Given the description of an element on the screen output the (x, y) to click on. 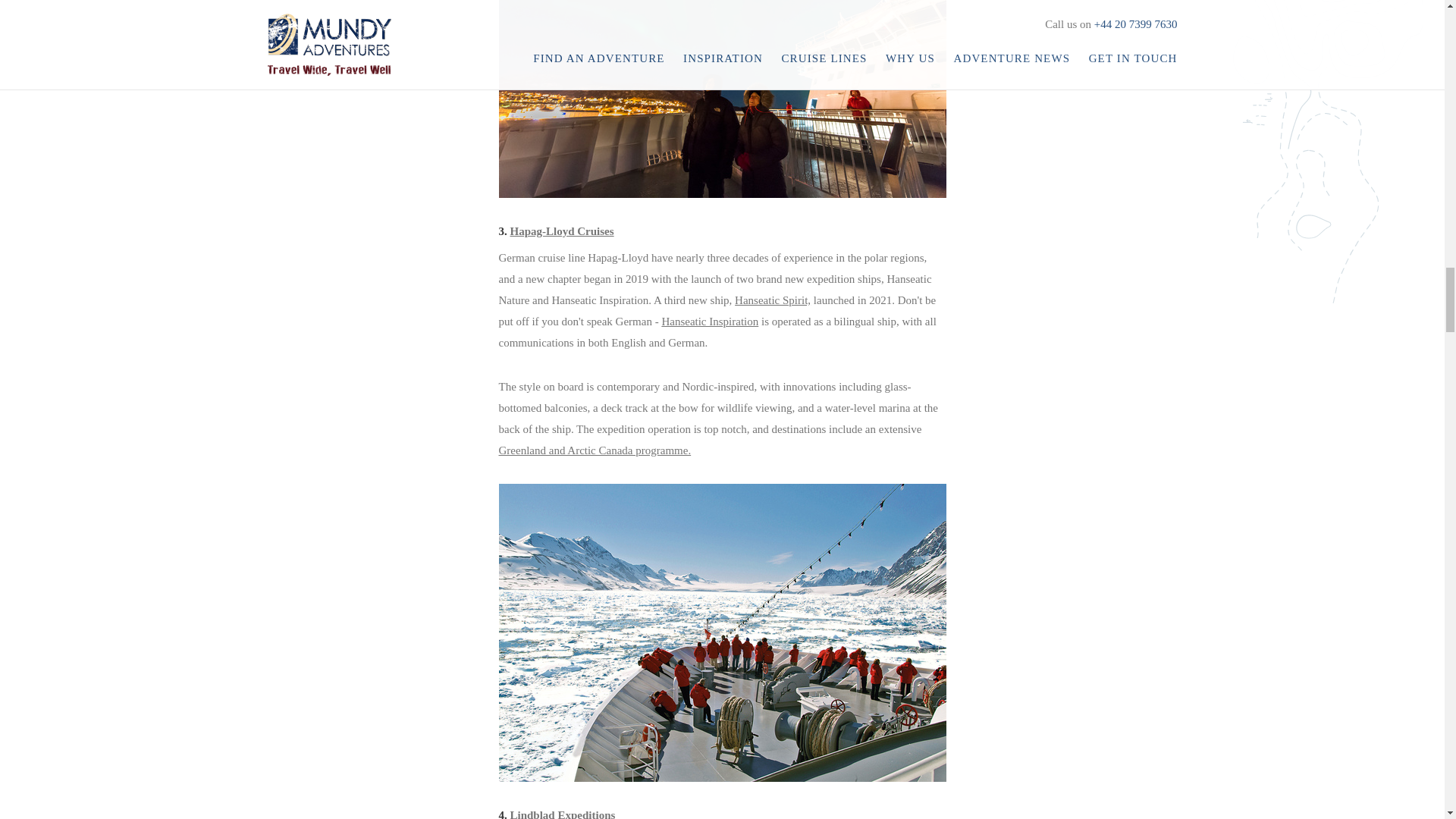
Hanseatic Spirit, (772, 300)
Hapag-Lloyd Cruises (560, 231)
